Given the description of an element on the screen output the (x, y) to click on. 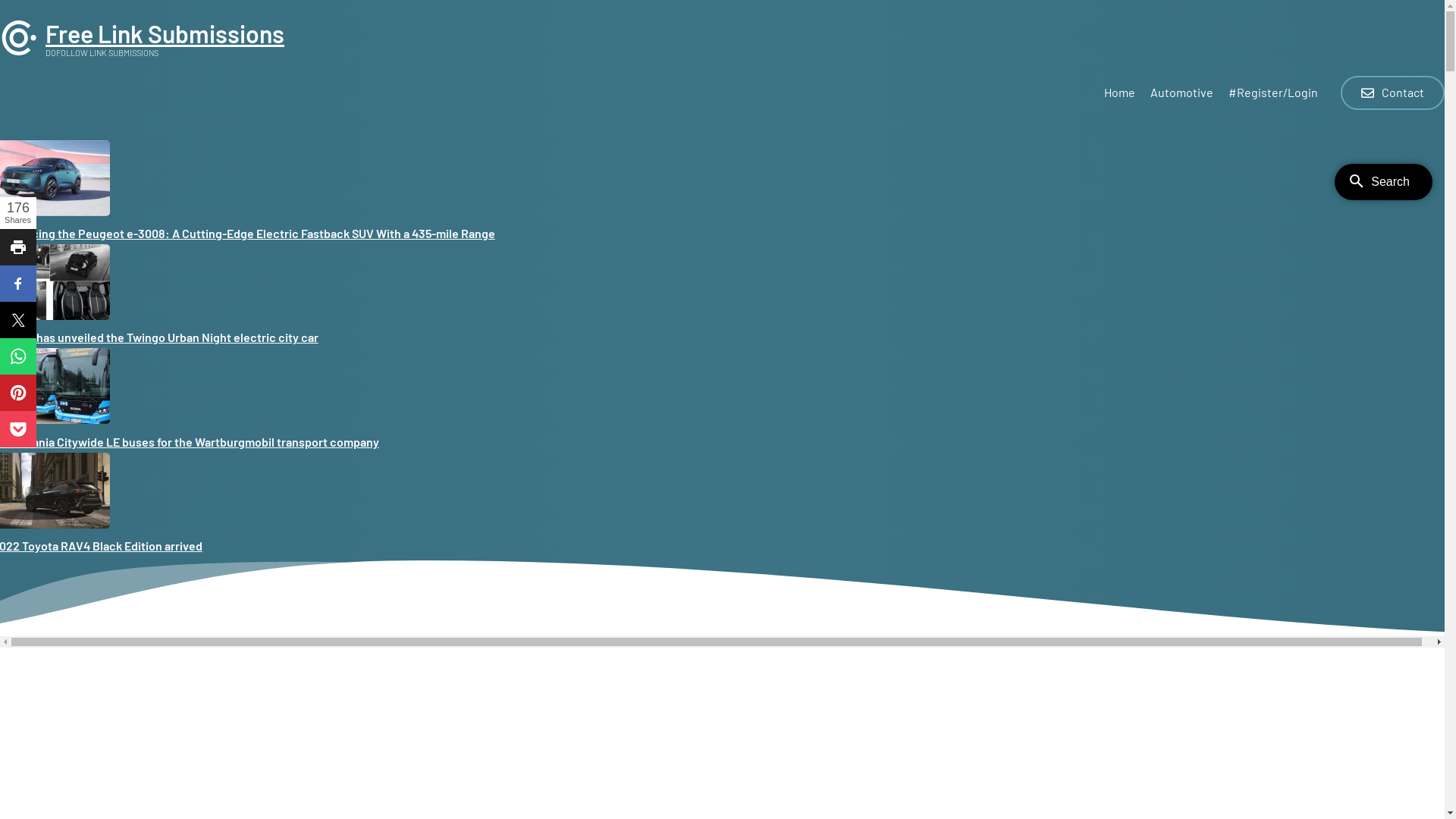
Free Link Submissions Element type: text (164, 32)
#Register/Login Element type: text (1272, 96)
Home Element type: hover (18, 51)
Skip to main content Element type: text (0, 0)
Automotive Element type: text (1181, 96)
Home Element type: text (1119, 96)
Contact Element type: text (1392, 92)
